Given the description of an element on the screen output the (x, y) to click on. 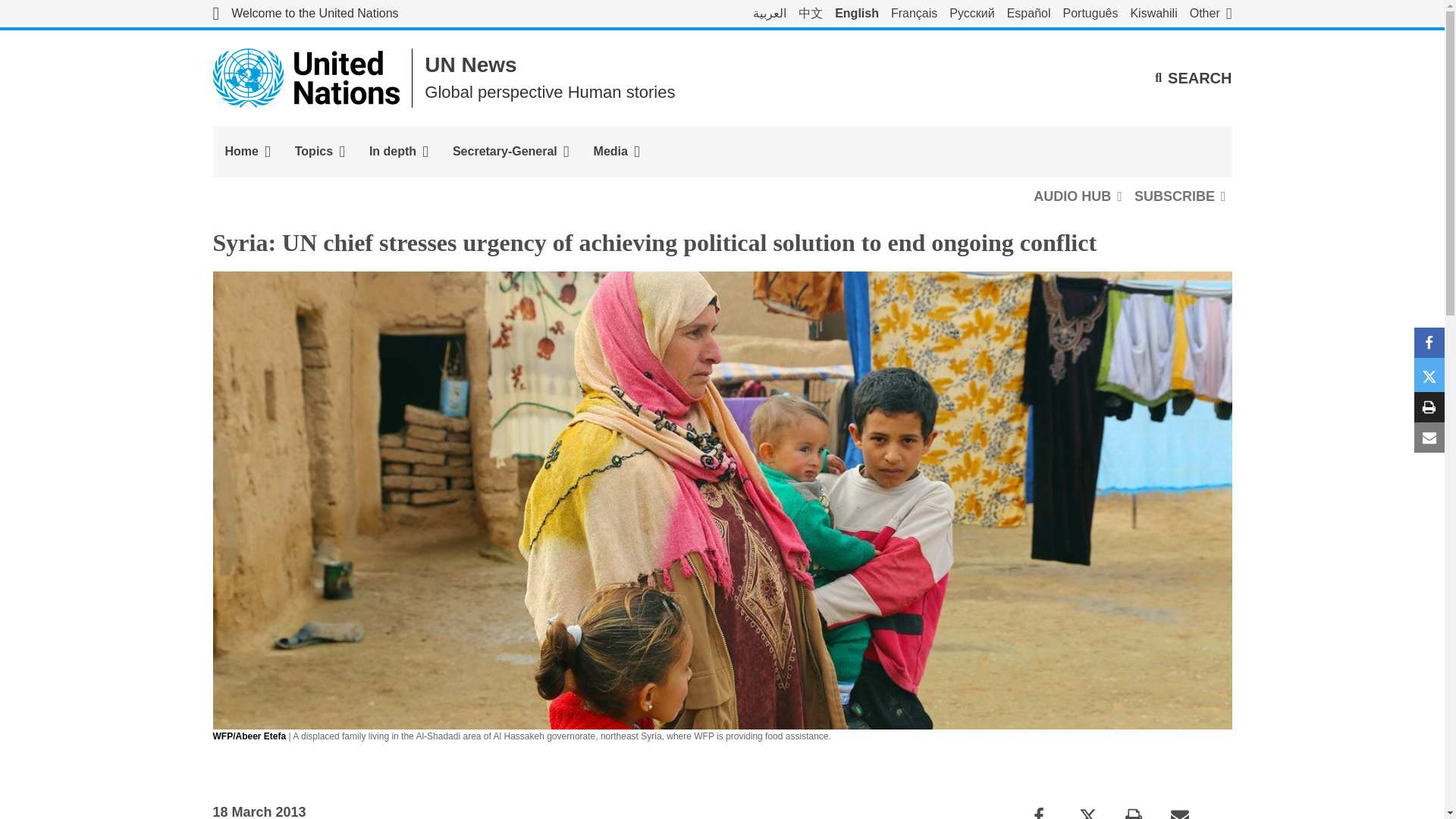
United Nations (304, 13)
English (856, 13)
UN News (470, 64)
Home (247, 151)
UN News (470, 64)
Other (1210, 13)
Kiswahili (1152, 13)
Home (247, 151)
Welcome to the United Nations (304, 13)
SEARCH (1192, 77)
